Given the description of an element on the screen output the (x, y) to click on. 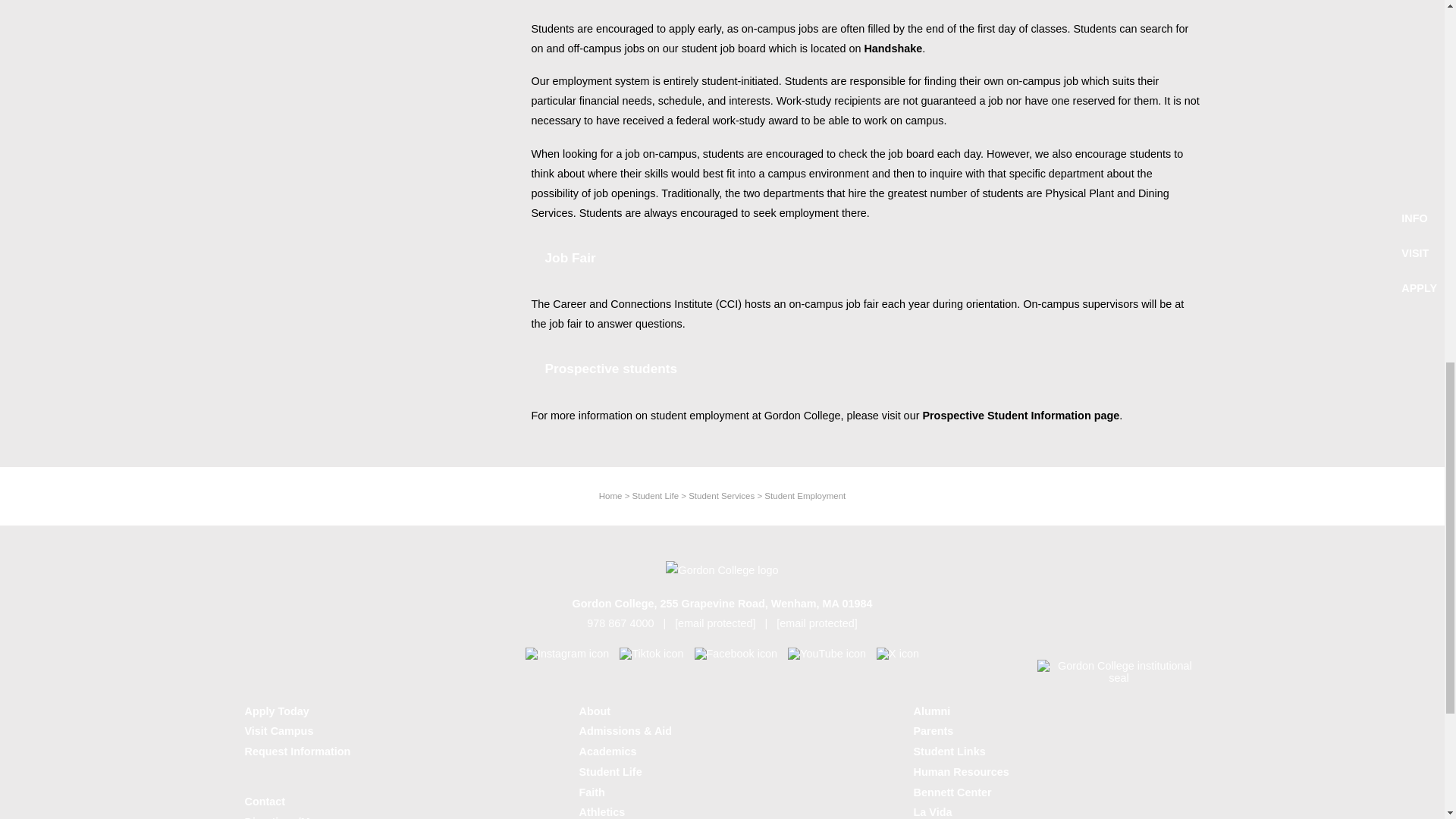
Handshake (892, 48)
Prospective Student Information page (1020, 415)
